Given the description of an element on the screen output the (x, y) to click on. 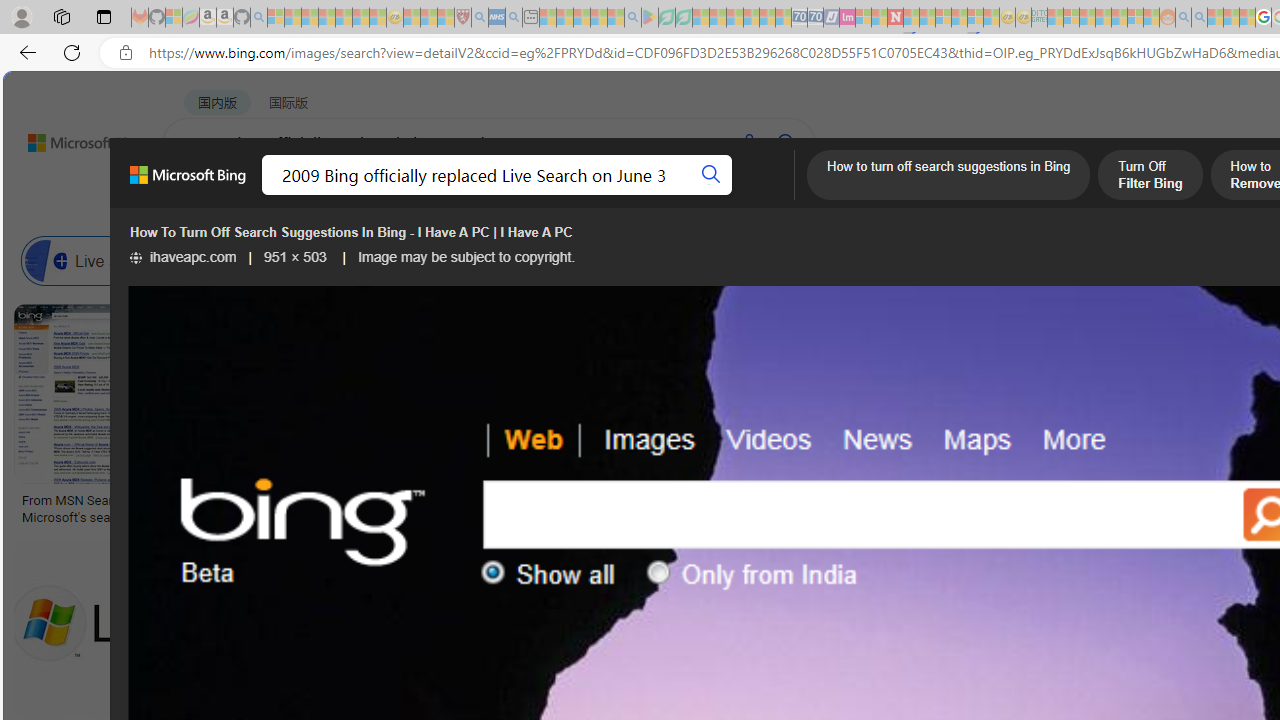
Bing Word Search (710, 260)
Bing Picture Search Engine (492, 260)
Bing Word Search (648, 260)
Microsoft Live Logo (737, 500)
